Given the description of an element on the screen output the (x, y) to click on. 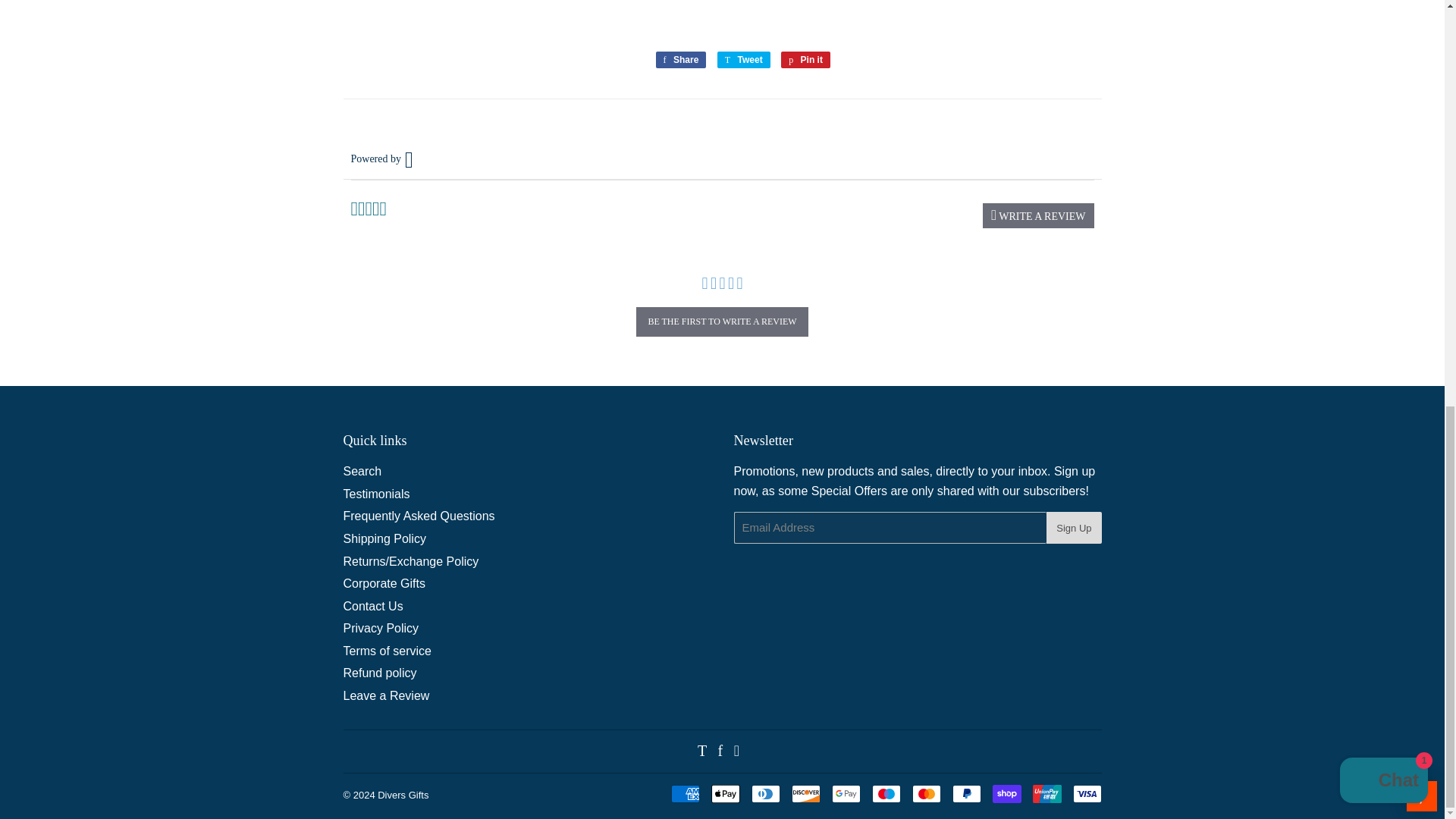
Discover (806, 793)
Union Pay (1046, 793)
Mastercard (925, 793)
Maestro (886, 793)
Shop Pay (1005, 793)
Apple Pay (725, 793)
PayPal (966, 793)
Visa (1085, 793)
Google Pay (845, 793)
Diners Club (764, 793)
American Express (683, 793)
